Given the description of an element on the screen output the (x, y) to click on. 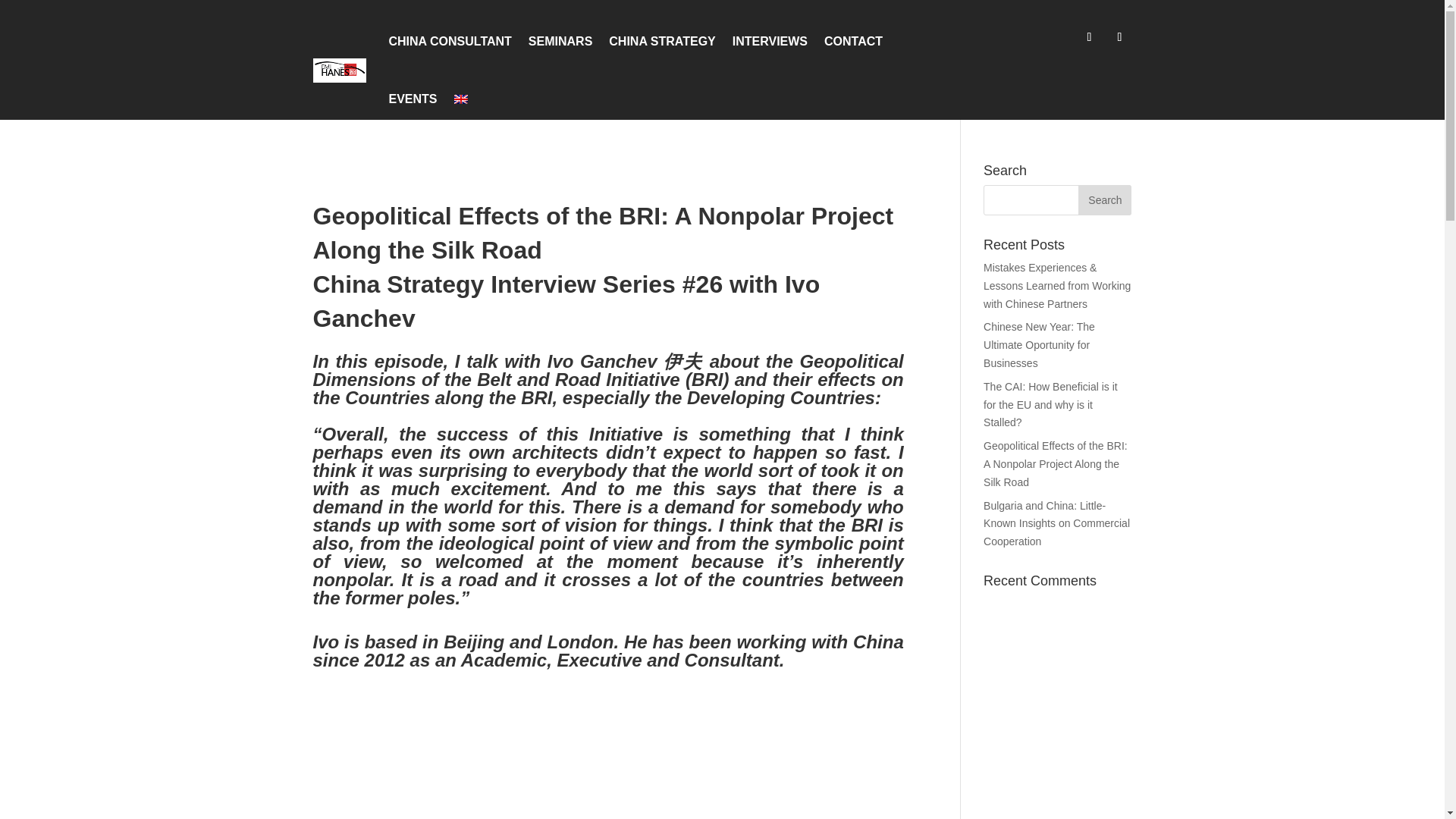
Search (1104, 200)
Chinese New Year: The Ultimate Oportunity for Businesses (1039, 345)
Search (1104, 200)
Follow on Facebook (1088, 37)
CONTACT (853, 41)
INTERVIEWS (770, 41)
